Given the description of an element on the screen output the (x, y) to click on. 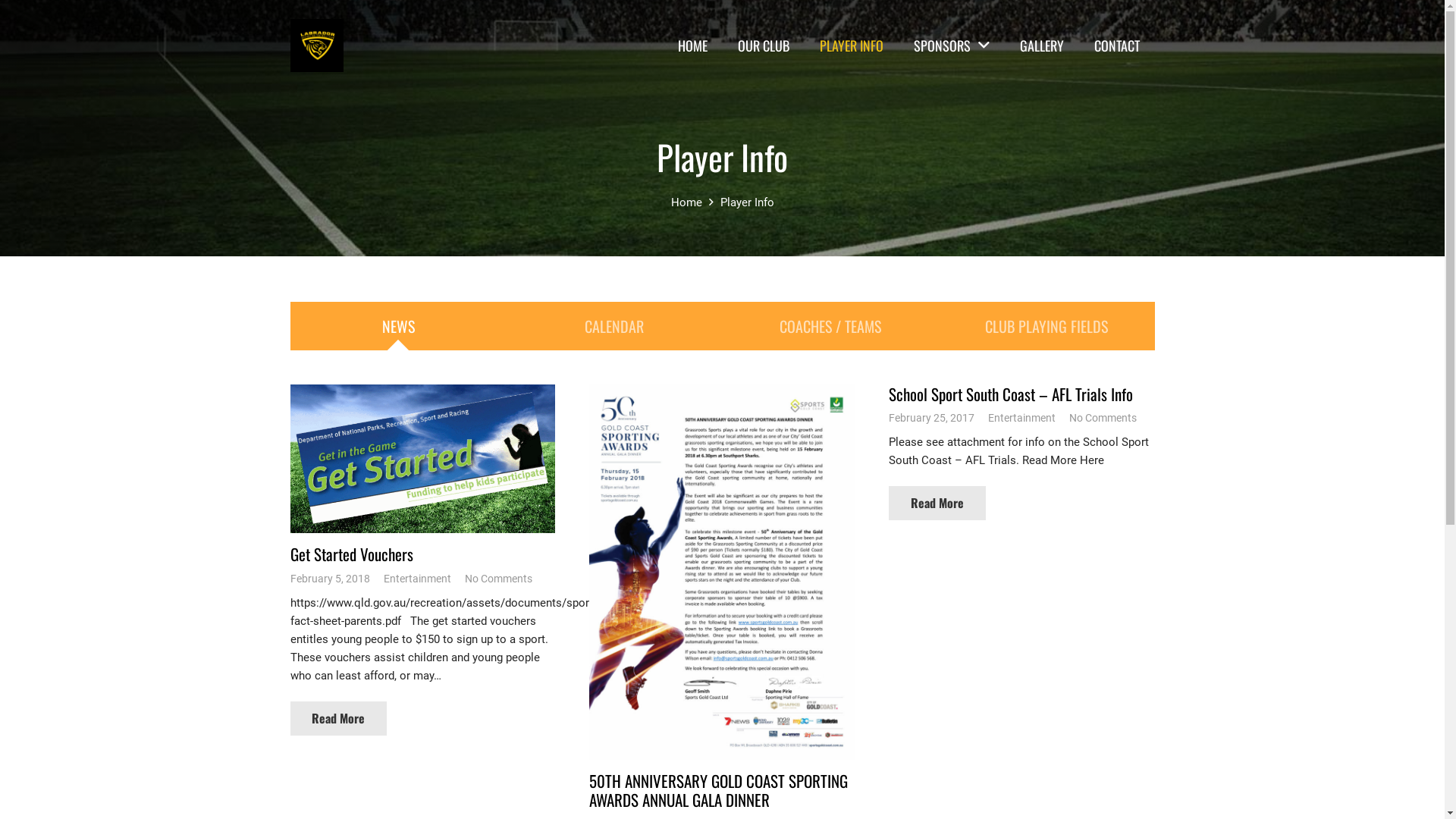
PLAYER INFO Element type: text (851, 45)
HOME Element type: text (692, 45)
Read More Element type: text (337, 718)
CLUB PLAYING FIELDS Element type: text (1046, 325)
CALENDAR Element type: text (614, 325)
Home Element type: text (685, 202)
COACHES / TEAMS Element type: text (829, 325)
GALLERY Element type: text (1041, 45)
NEWS Element type: text (397, 325)
Get Started Vouchers Element type: text (350, 553)
No Comments Element type: text (1102, 417)
Player Info Element type: text (721, 156)
Entertainment Element type: text (417, 578)
Player Info Element type: text (747, 202)
CONTACT Element type: text (1116, 45)
OUR CLUB Element type: text (763, 45)
No Comments Element type: text (497, 578)
SPONSORS Element type: text (951, 45)
Read More Element type: text (936, 503)
Entertainment Element type: text (1021, 417)
